Given the description of an element on the screen output the (x, y) to click on. 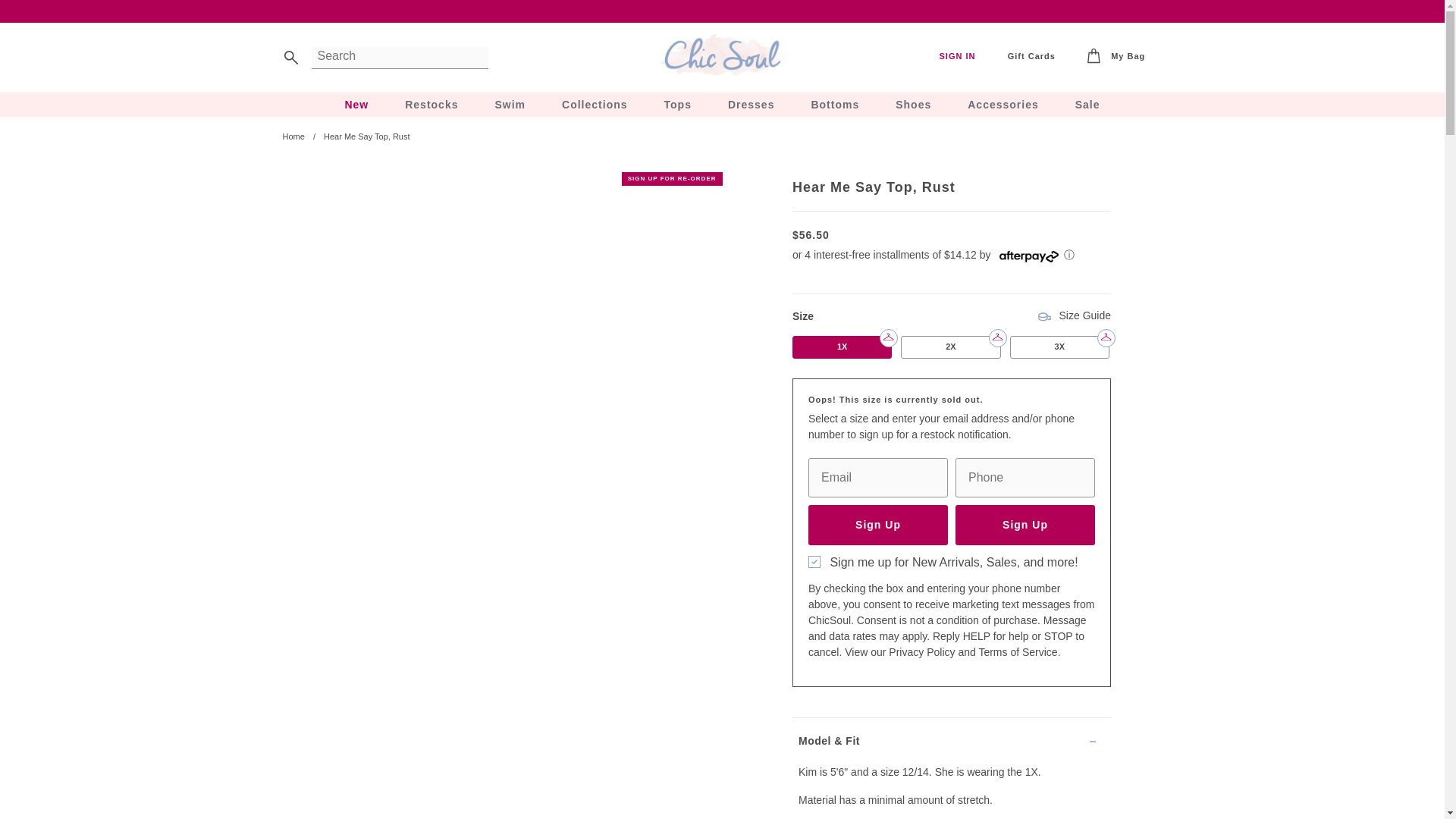
Go to Shopping Cart (1115, 57)
Restocks (431, 104)
New (355, 104)
Gift Cards (1031, 55)
SIGN IN (957, 55)
Collections (594, 104)
Swim (510, 104)
